Given the description of an element on the screen output the (x, y) to click on. 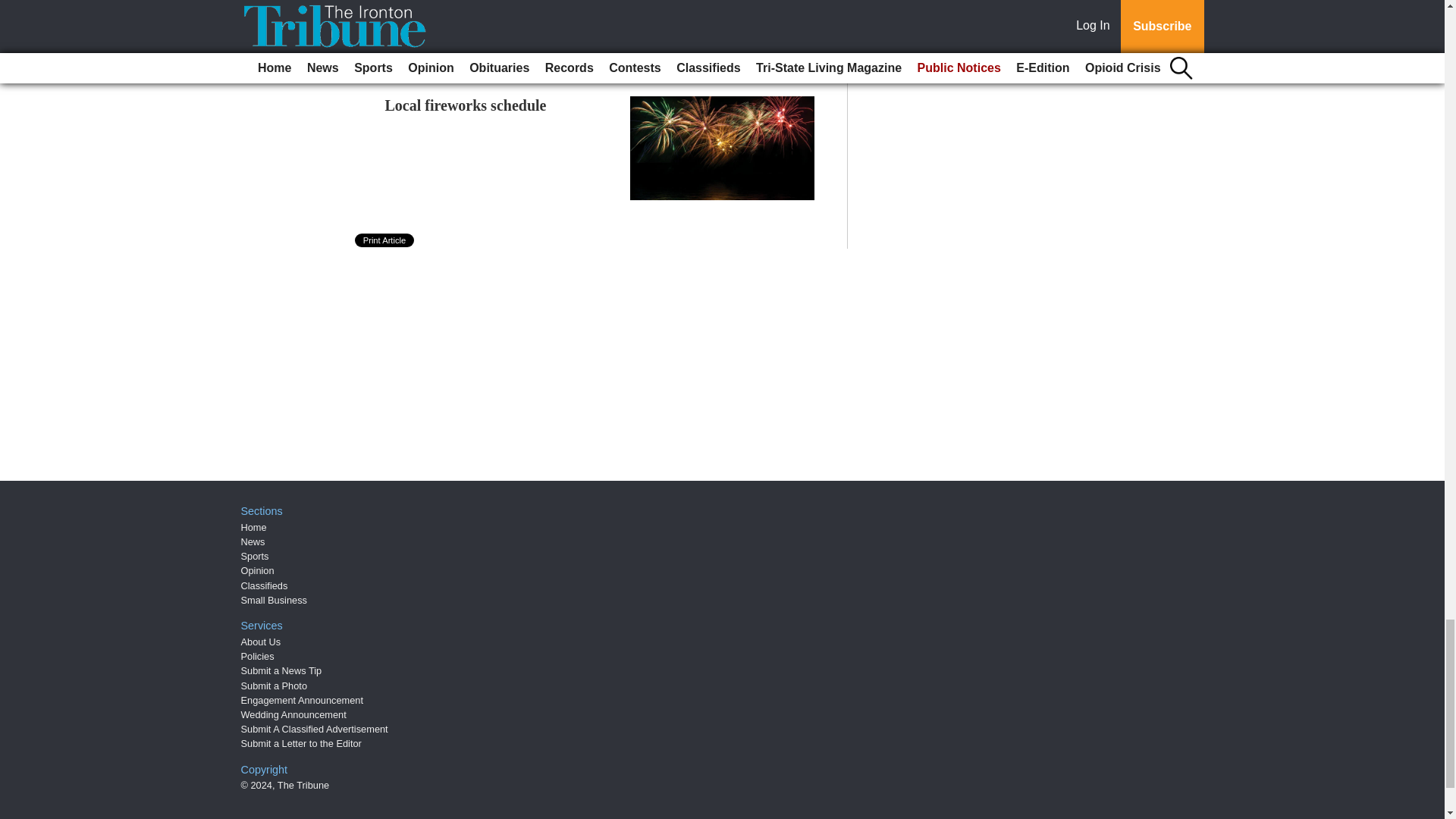
Sports (255, 555)
Small Business (274, 600)
Classifieds (264, 585)
News (252, 541)
Policies (258, 655)
About Us (261, 641)
Local fireworks schedule (466, 105)
Print Article (384, 240)
Opinion (258, 570)
Home (253, 527)
Local fireworks schedule (466, 105)
